Given the description of an element on the screen output the (x, y) to click on. 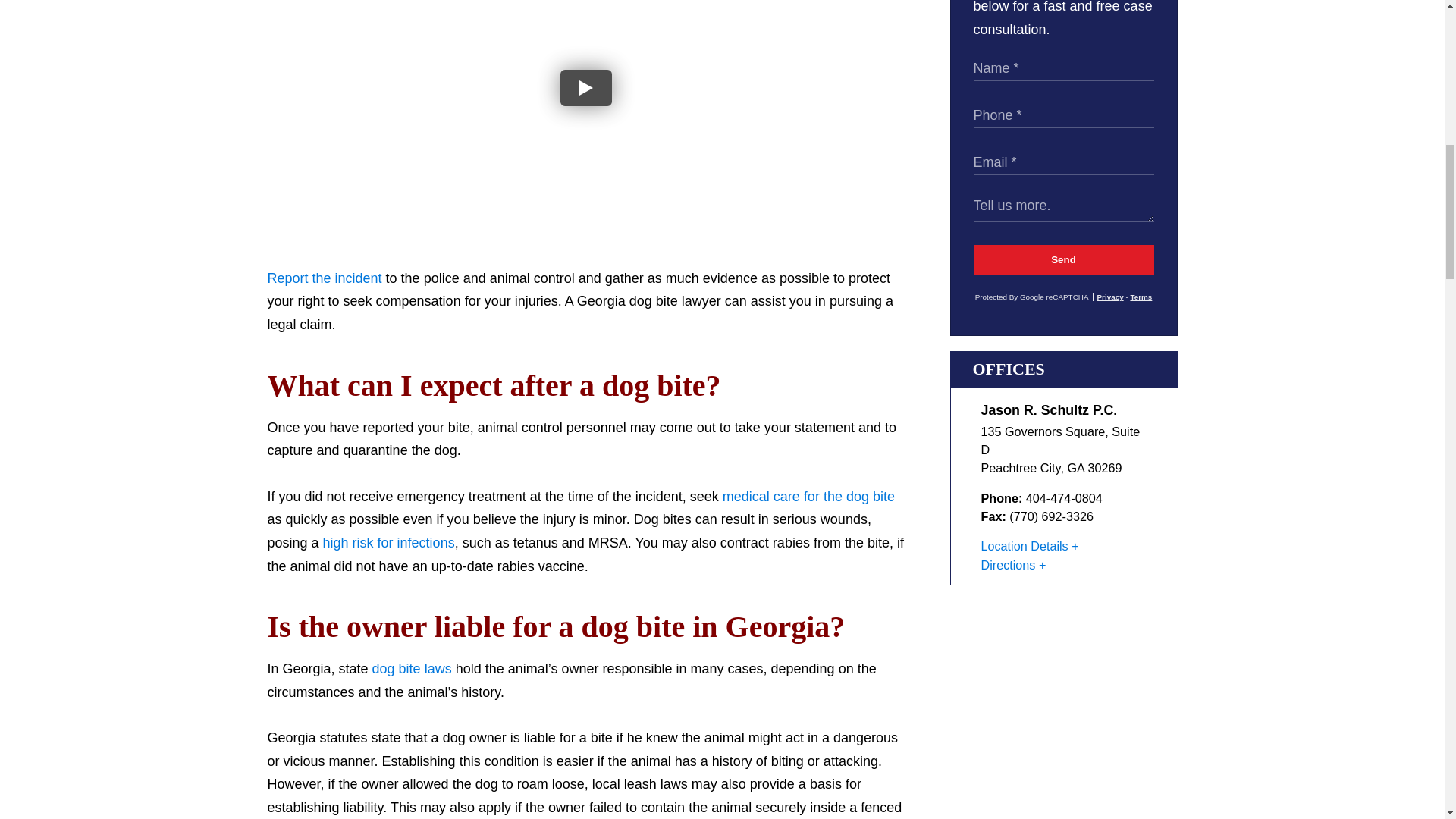
medical care for the dog bite (808, 496)
high risk for infections (388, 542)
Report the incident (323, 278)
dog bite laws (411, 668)
